Given the description of an element on the screen output the (x, y) to click on. 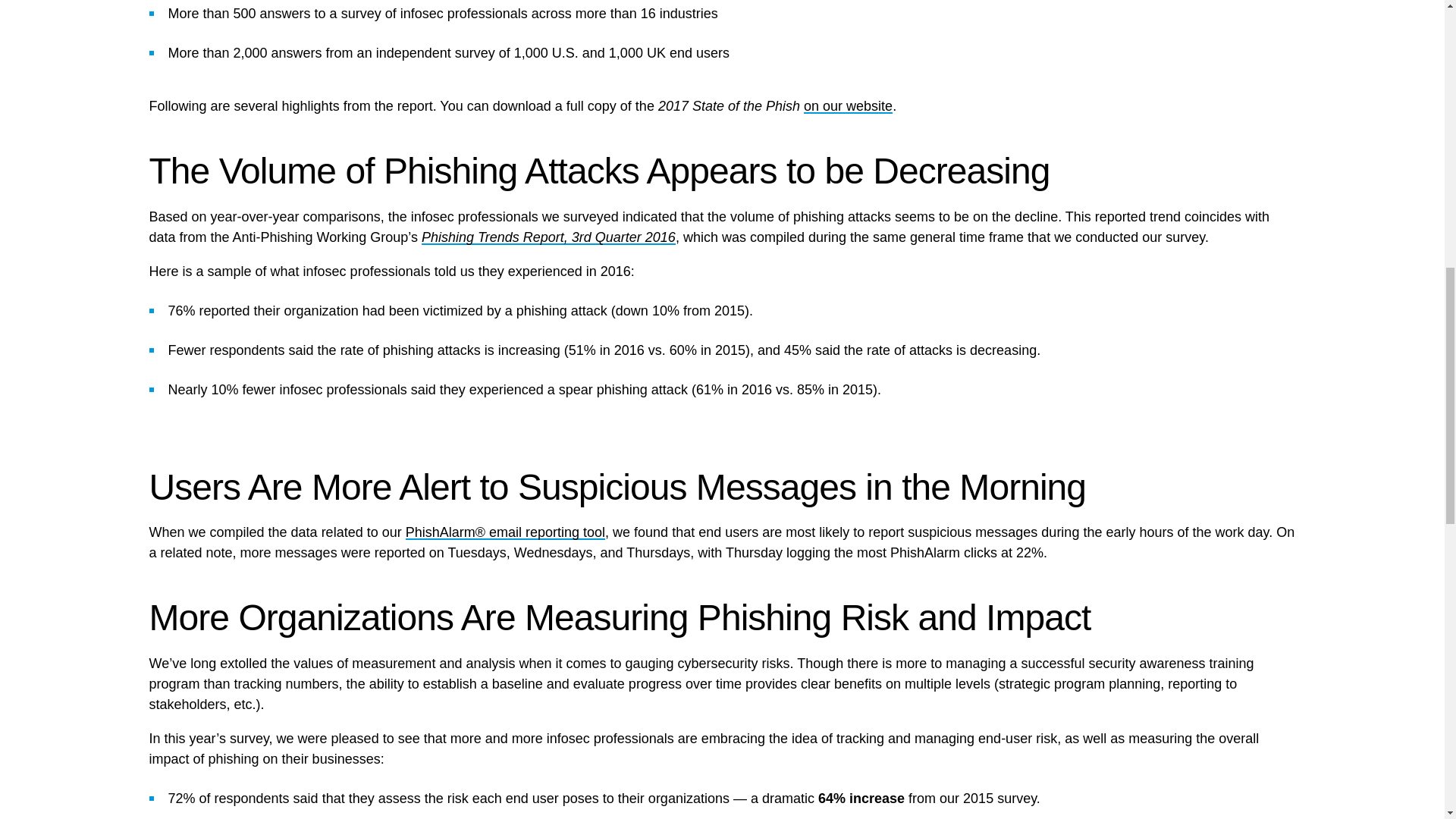
State of the Phish (847, 105)
Phishing Email Reporting, Analysis, and Remediation (505, 531)
